Given the description of an element on the screen output the (x, y) to click on. 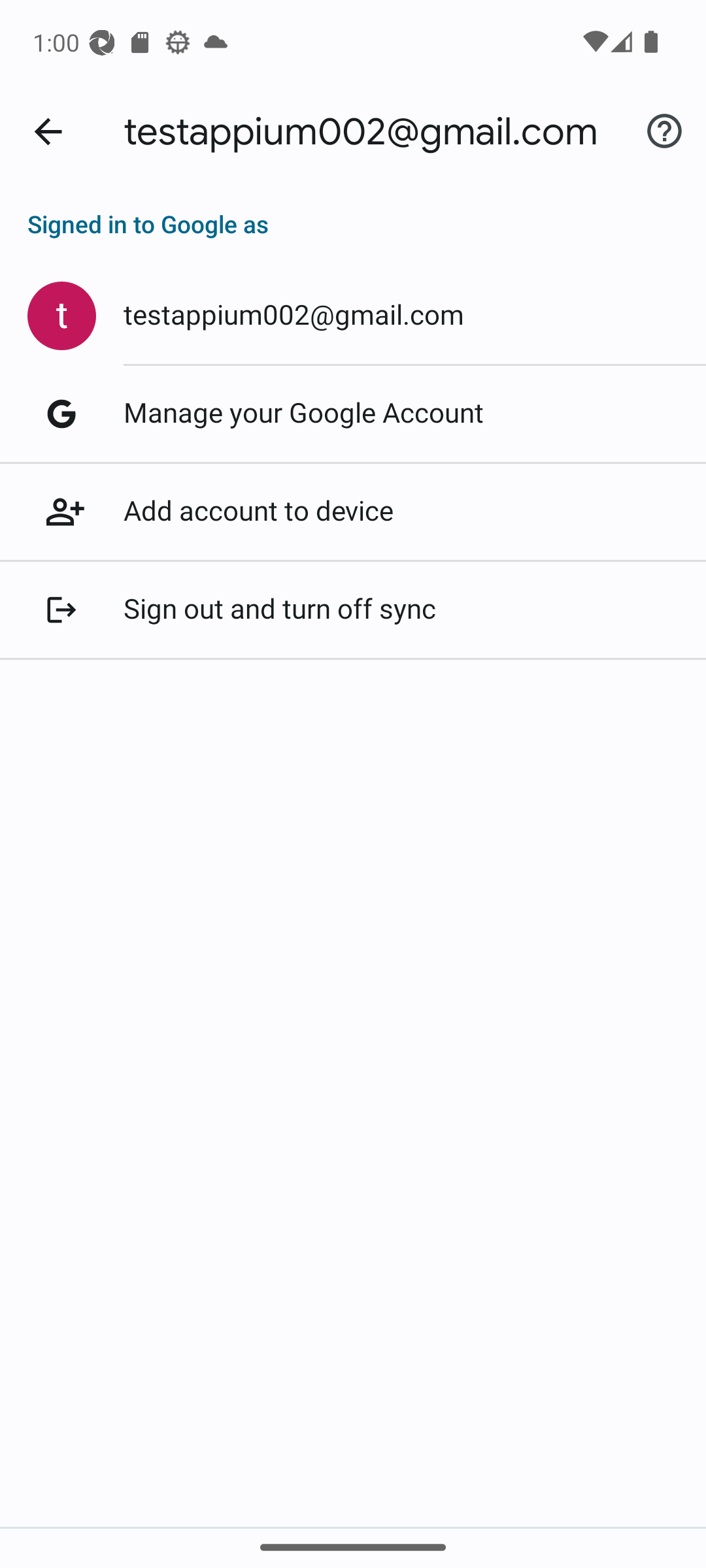
Navigate up (48, 131)
Help & feedback (664, 131)
testappium002@gmail.com (353, 315)
Manage your Google Account (353, 413)
Add account to device (353, 511)
Sign out and turn off sync (353, 609)
